Given the description of an element on the screen output the (x, y) to click on. 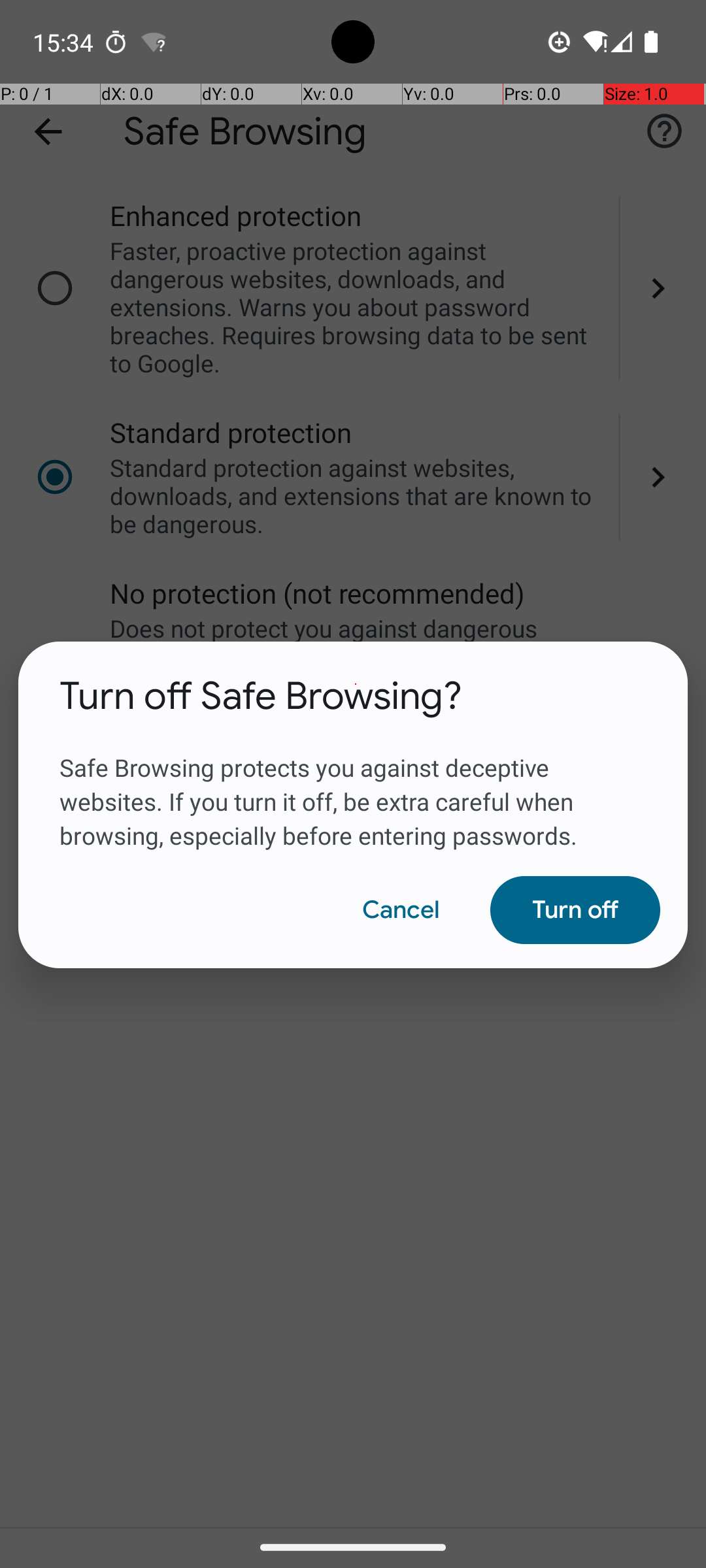
Turn off Safe Browsing? Element type: android.widget.TextView (260, 695)
Safe Browsing protects you against deceptive websites. If you turn it off, be extra careful when browsing, especially before entering passwords. Element type: android.widget.TextView (352, 785)
Turn off Element type: android.widget.Button (575, 909)
